Given the description of an element on the screen output the (x, y) to click on. 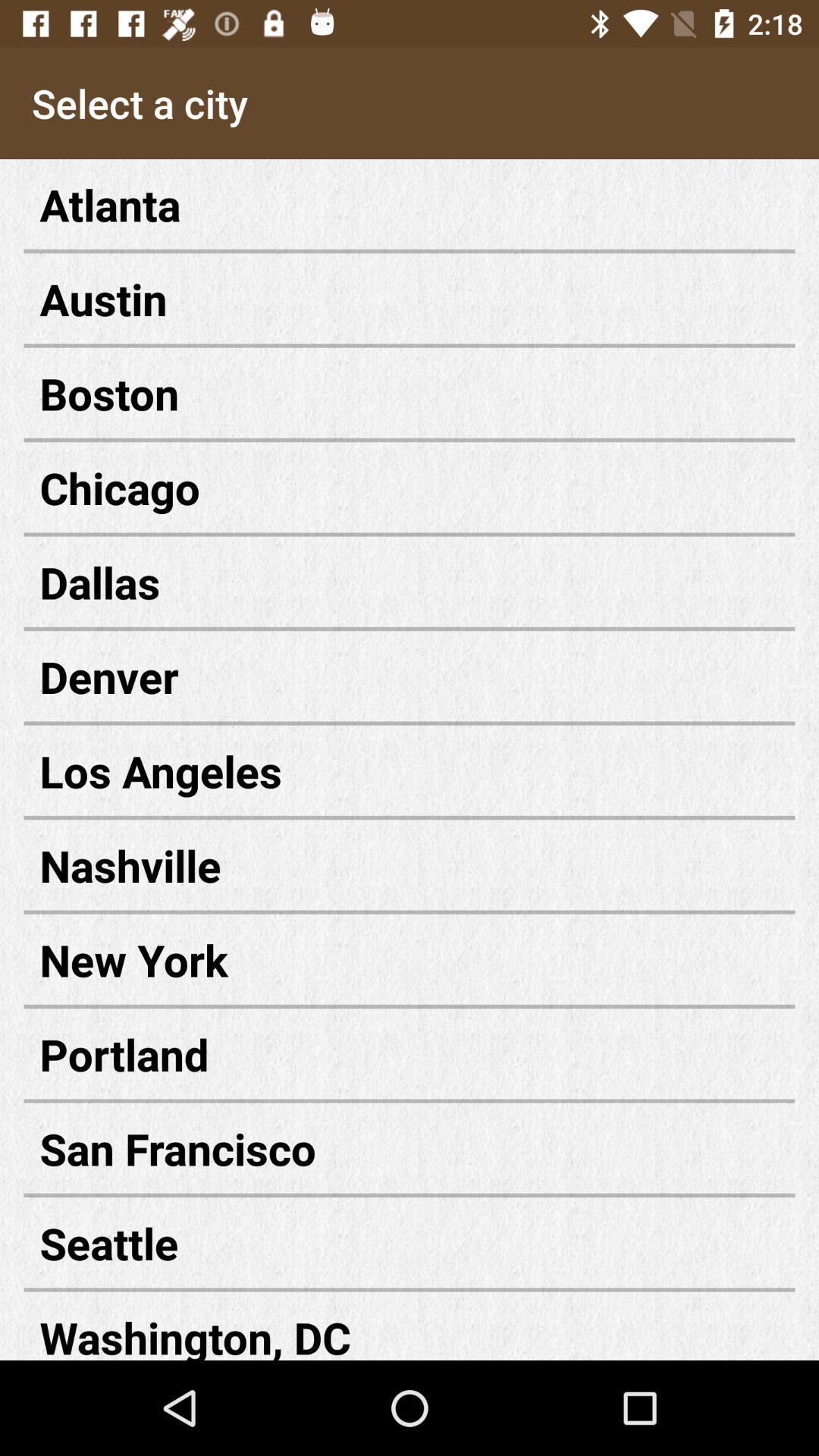
click boston icon (409, 393)
